Given the description of an element on the screen output the (x, y) to click on. 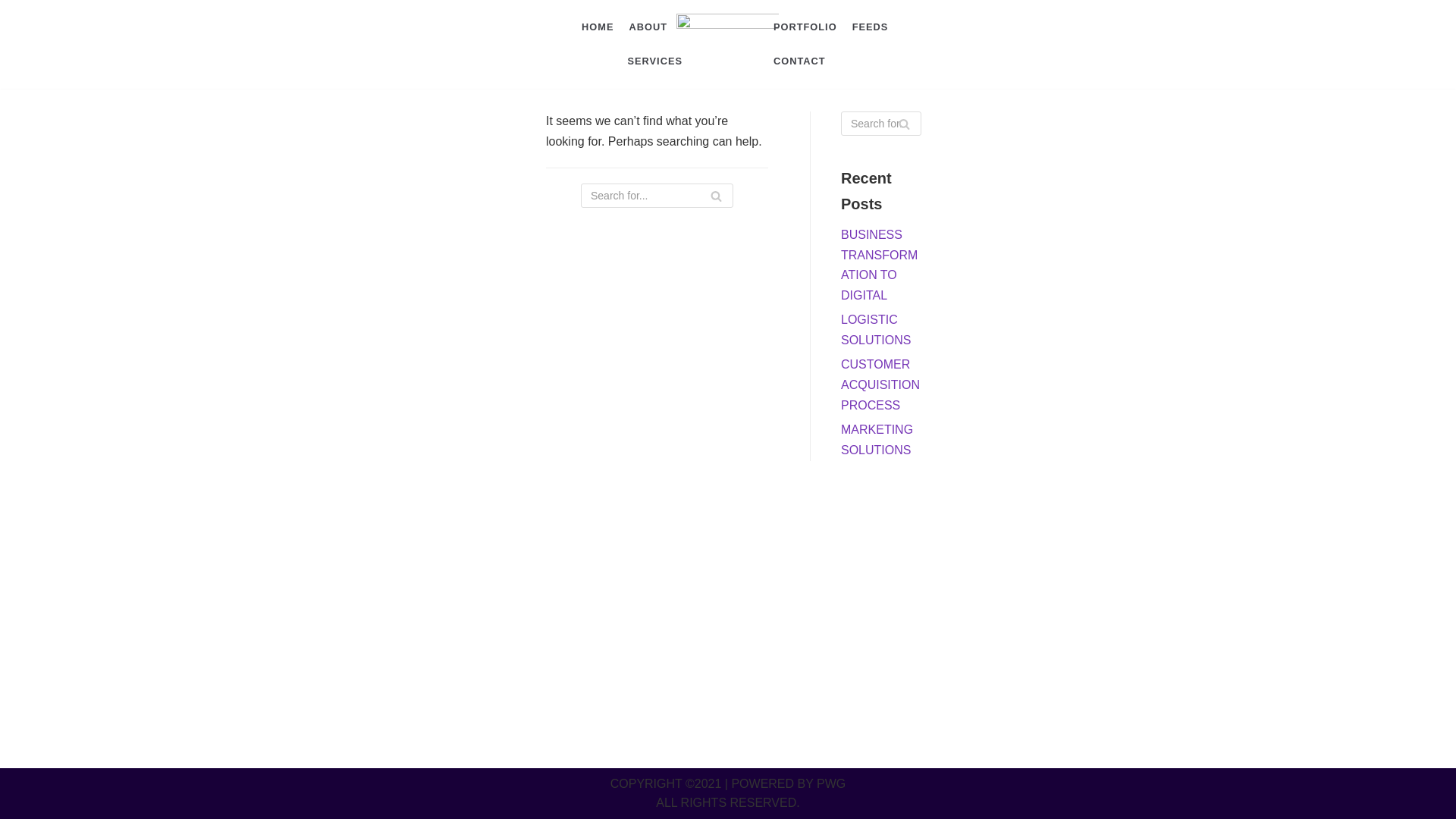
CONTACT (799, 61)
FEEDS (869, 27)
Premier Wright Global (727, 44)
HOME (596, 27)
SERVICES (654, 61)
CUSTOMER ACQUISITION PROCESS (880, 384)
PWG (830, 783)
Skip to content (15, 7)
LOGISTIC SOLUTIONS (876, 329)
ABOUT (647, 27)
MARKETING SOLUTIONS (876, 439)
BUSINESS TRANSFORMATION TO DIGITAL (879, 265)
PORTFOLIO (805, 27)
